Given the description of an element on the screen output the (x, y) to click on. 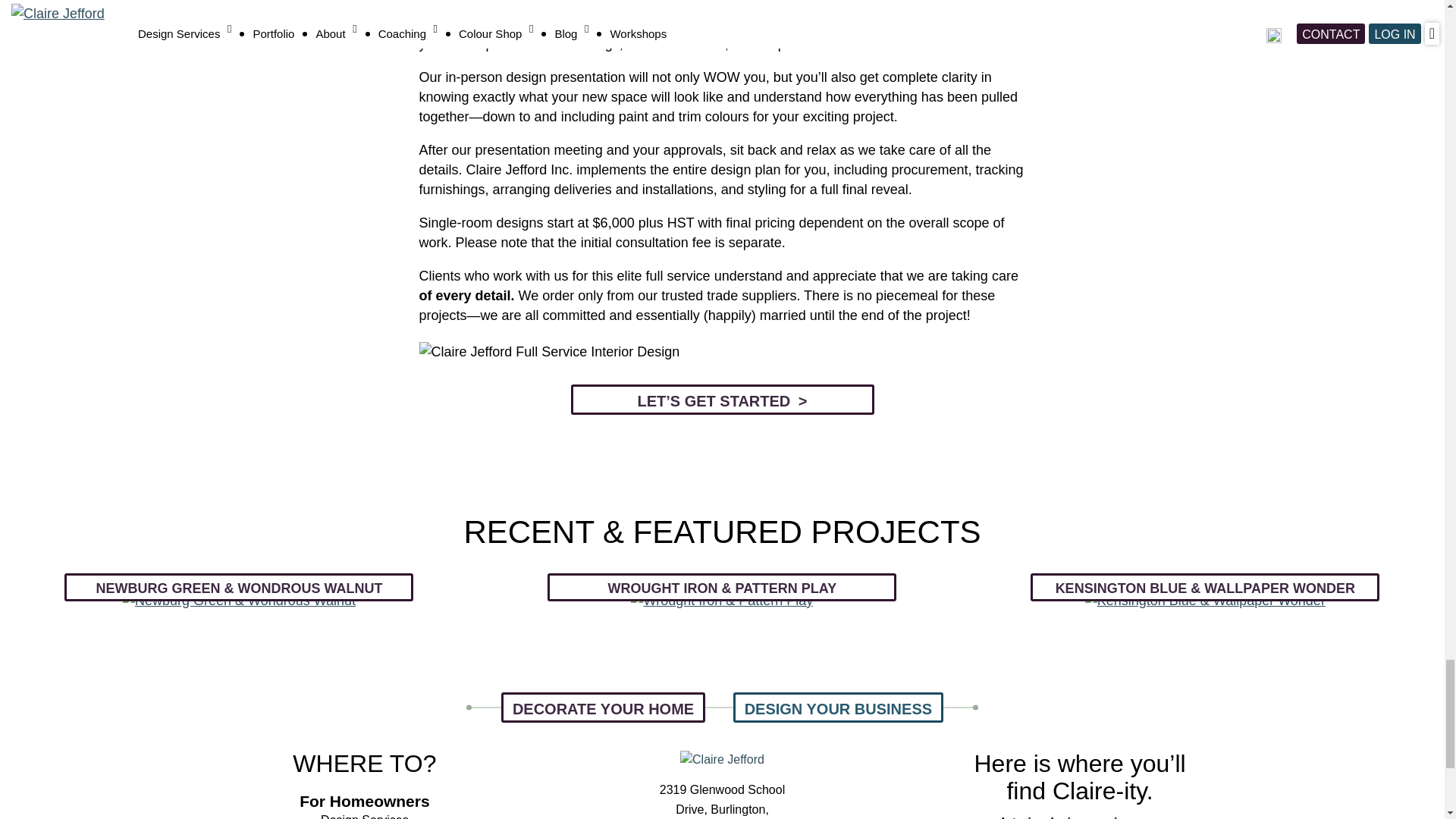
Design Your Business (838, 707)
Get started (721, 800)
Portfolio (721, 591)
Portfolio (239, 591)
Claire Jefford (721, 758)
Decorate Your Home (602, 707)
Portfolio (1205, 591)
